Given the description of an element on the screen output the (x, y) to click on. 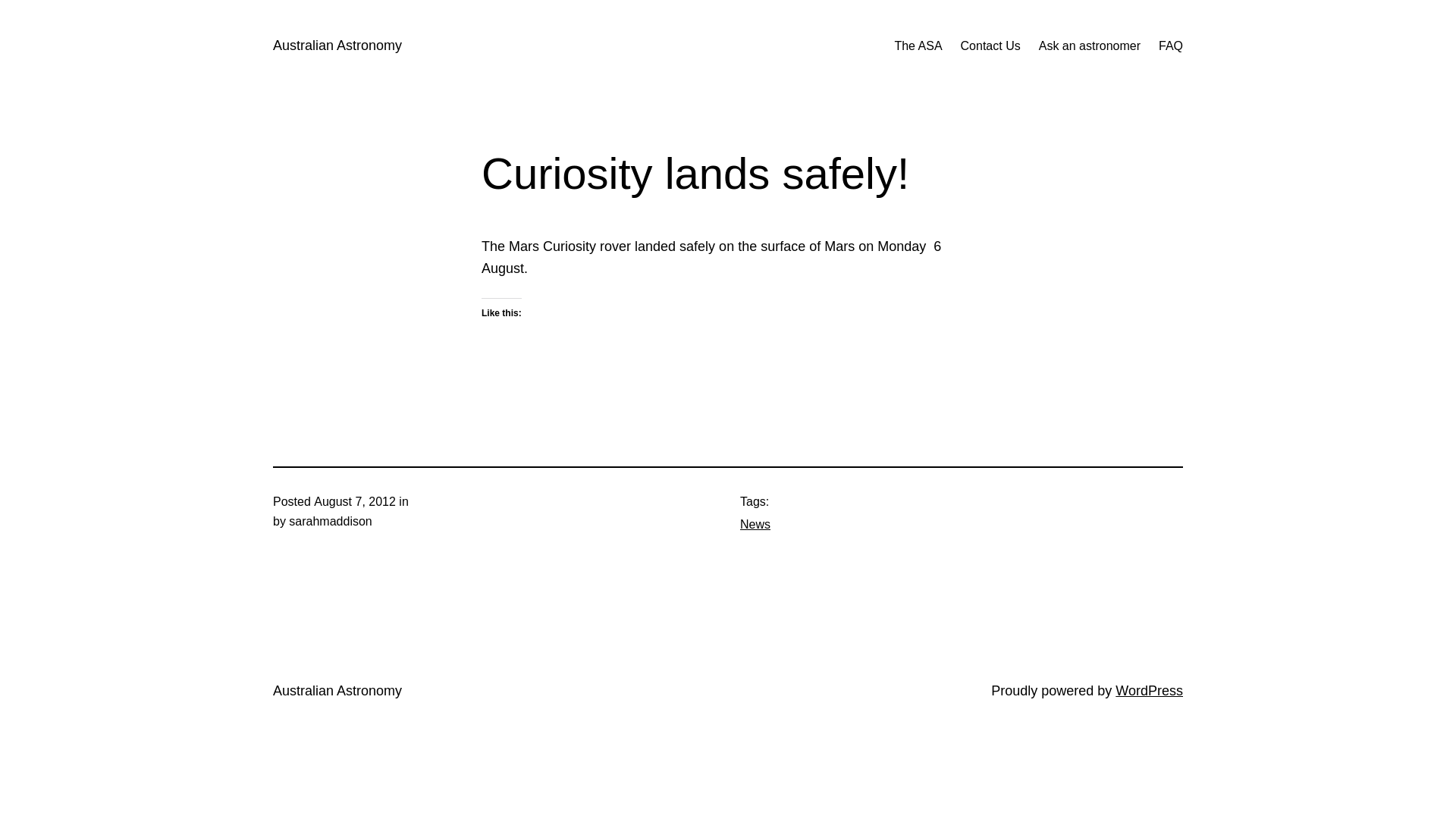
Australian Astronomy Element type: text (337, 45)
The ASA Element type: text (917, 46)
FAQ Element type: text (1170, 46)
Like or Reblog Element type: hover (727, 348)
WordPress Element type: text (1149, 690)
News Element type: text (755, 523)
Ask an astronomer Element type: text (1089, 46)
Australian Astronomy Element type: text (337, 690)
Contact Us Element type: text (990, 46)
